Given the description of an element on the screen output the (x, y) to click on. 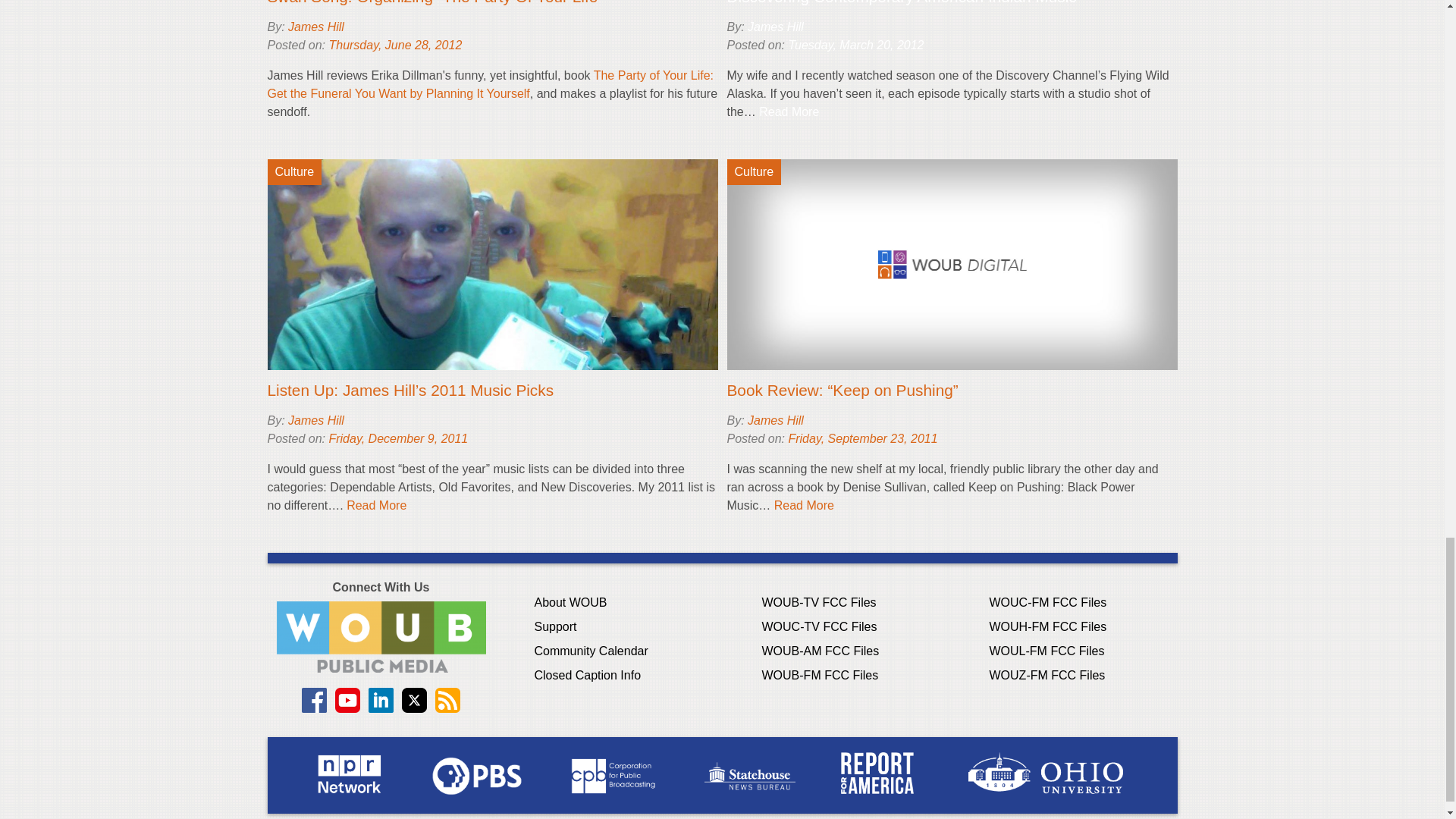
Contact WOUB (380, 636)
